Given the description of an element on the screen output the (x, y) to click on. 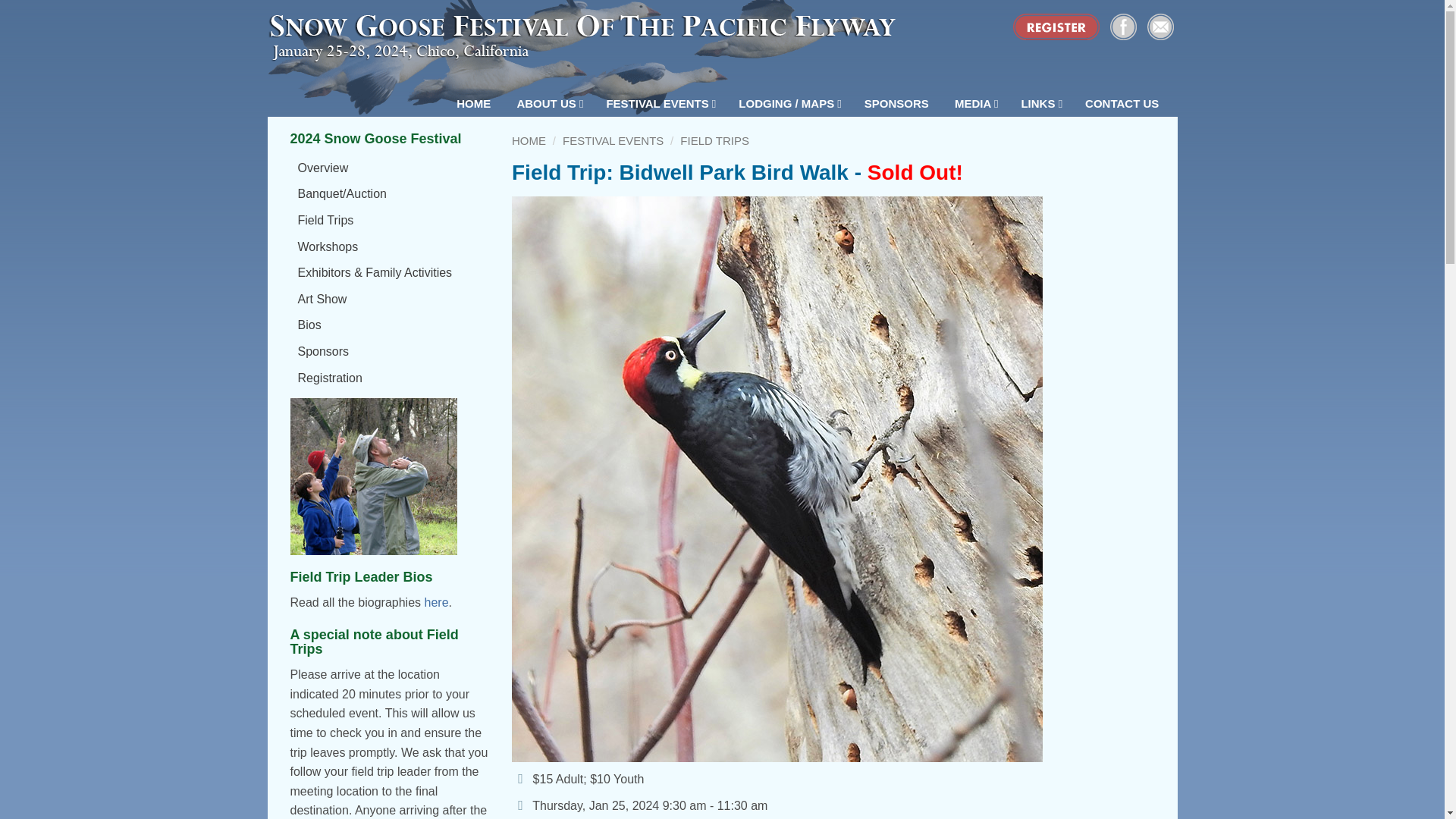
Bios (389, 325)
Workshops (389, 247)
CONTACT US (1123, 103)
HOME (529, 140)
HOME (475, 103)
Registration (389, 378)
Overview (389, 167)
Art Show (389, 298)
LINKS (1041, 103)
MEDIA (976, 103)
Field Trips (389, 220)
FESTIVAL EVENTS (660, 103)
SPONSORS (898, 103)
ABOUT US (549, 103)
Sponsors (389, 351)
